Given the description of an element on the screen output the (x, y) to click on. 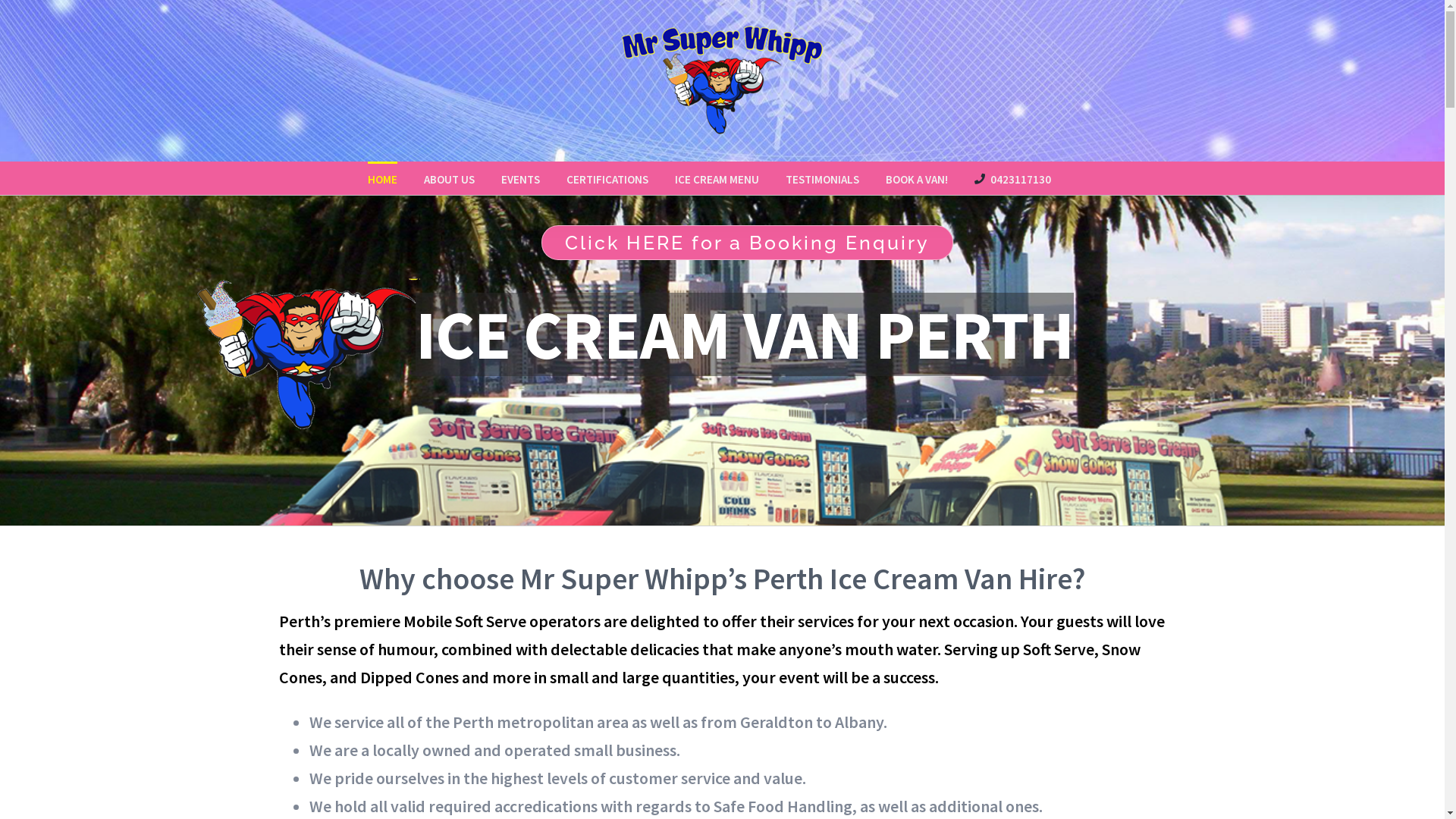
TESTIMONIALS Element type: text (822, 177)
ABOUT US Element type: text (448, 177)
HOME Element type: text (381, 177)
CERTIFICATIONS Element type: text (606, 177)
EVENTS Element type: text (519, 177)
0423117130 Element type: text (1011, 177)
BOOK A VAN! Element type: text (916, 177)
ICE CREAM MENU Element type: text (716, 177)
